Given the description of an element on the screen output the (x, y) to click on. 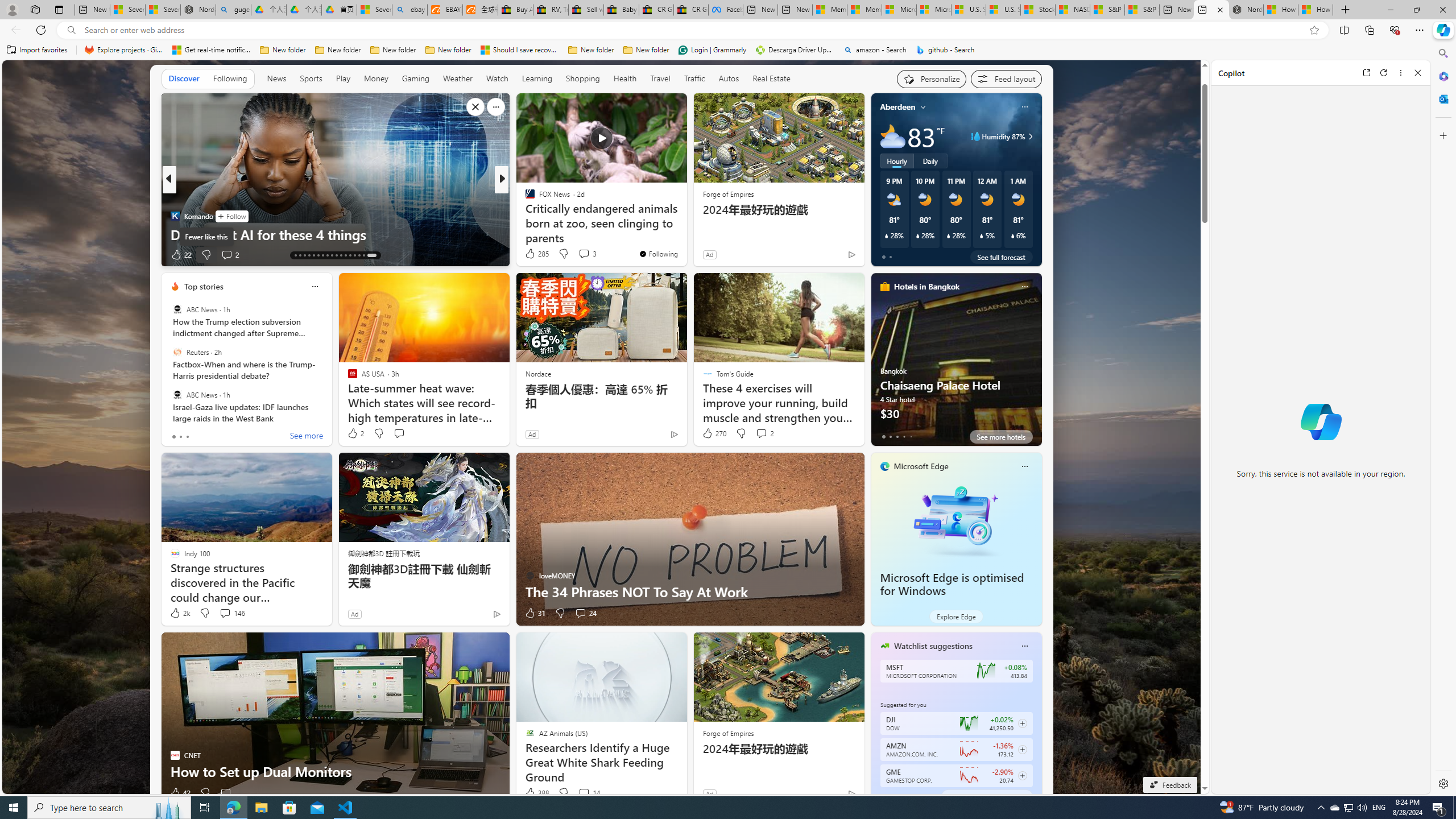
Shopping (583, 79)
31 Like (534, 612)
Learning (537, 79)
Login | Grammarly (712, 49)
Side bar (1443, 418)
Sports (310, 79)
github - Search (945, 49)
Health (624, 78)
Buy Auto Parts & Accessories | eBay (515, 9)
Microsoft Edge is optimised for Windows (952, 584)
